Given the description of an element on the screen output the (x, y) to click on. 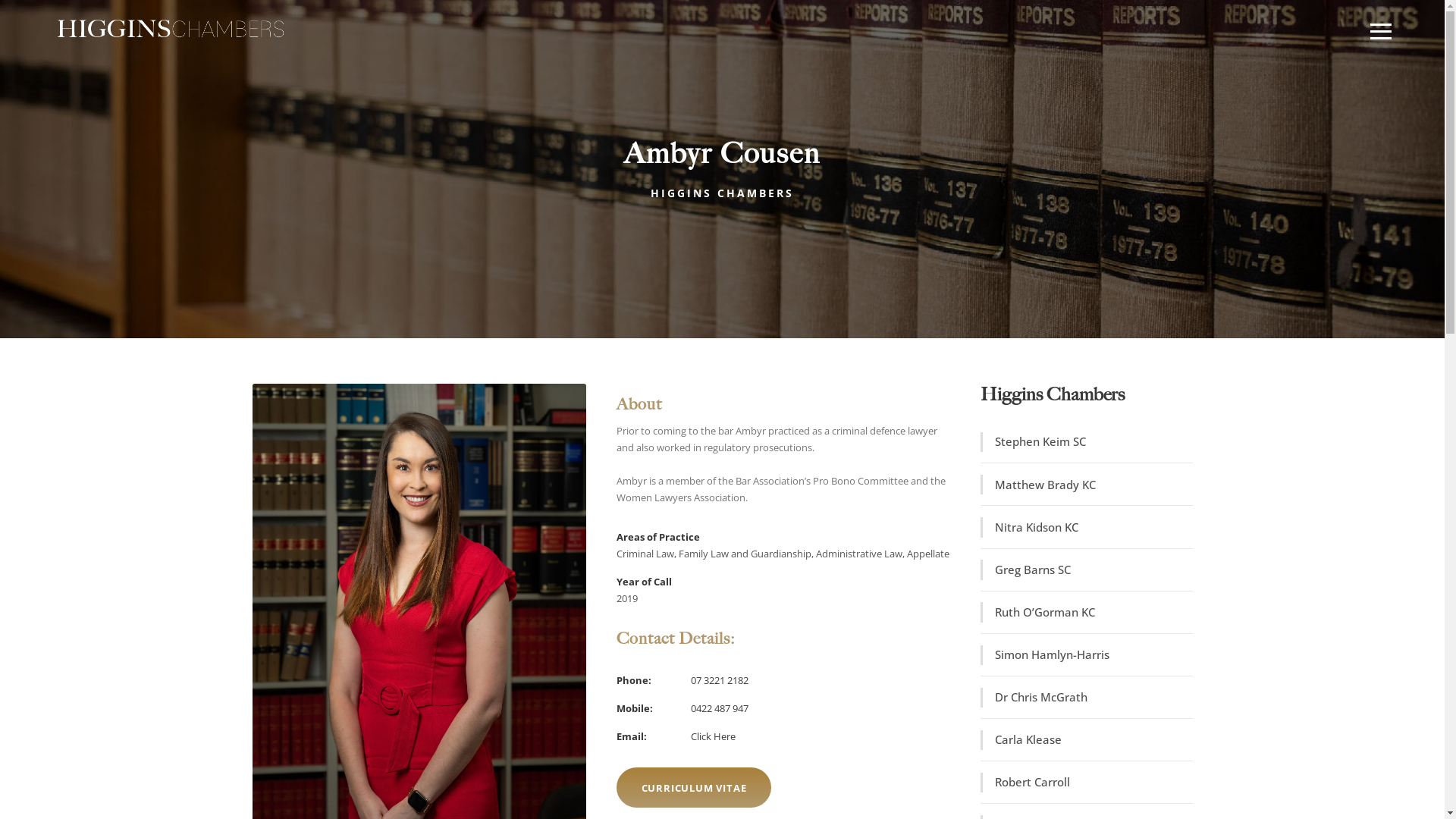
Robert Carroll Element type: text (1026, 782)
Nitra Kidson KC Element type: text (1030, 527)
Dr Chris McGrath Element type: text (1034, 697)
0422 487 947 Element type: text (718, 708)
Matthew Brady KC Element type: text (1038, 485)
2022-01-19 Element type: hover (170, 28)
Greg Barns SC Element type: text (1026, 570)
CURRICULUM VITAE Element type: text (693, 787)
Click Here Element type: text (712, 736)
Simon Hamlyn-Harris Element type: text (1045, 655)
07 3221 2182 Element type: text (718, 680)
Stephen Keim SC Element type: text (1033, 441)
Carla Klease Element type: text (1021, 739)
